Given the description of an element on the screen output the (x, y) to click on. 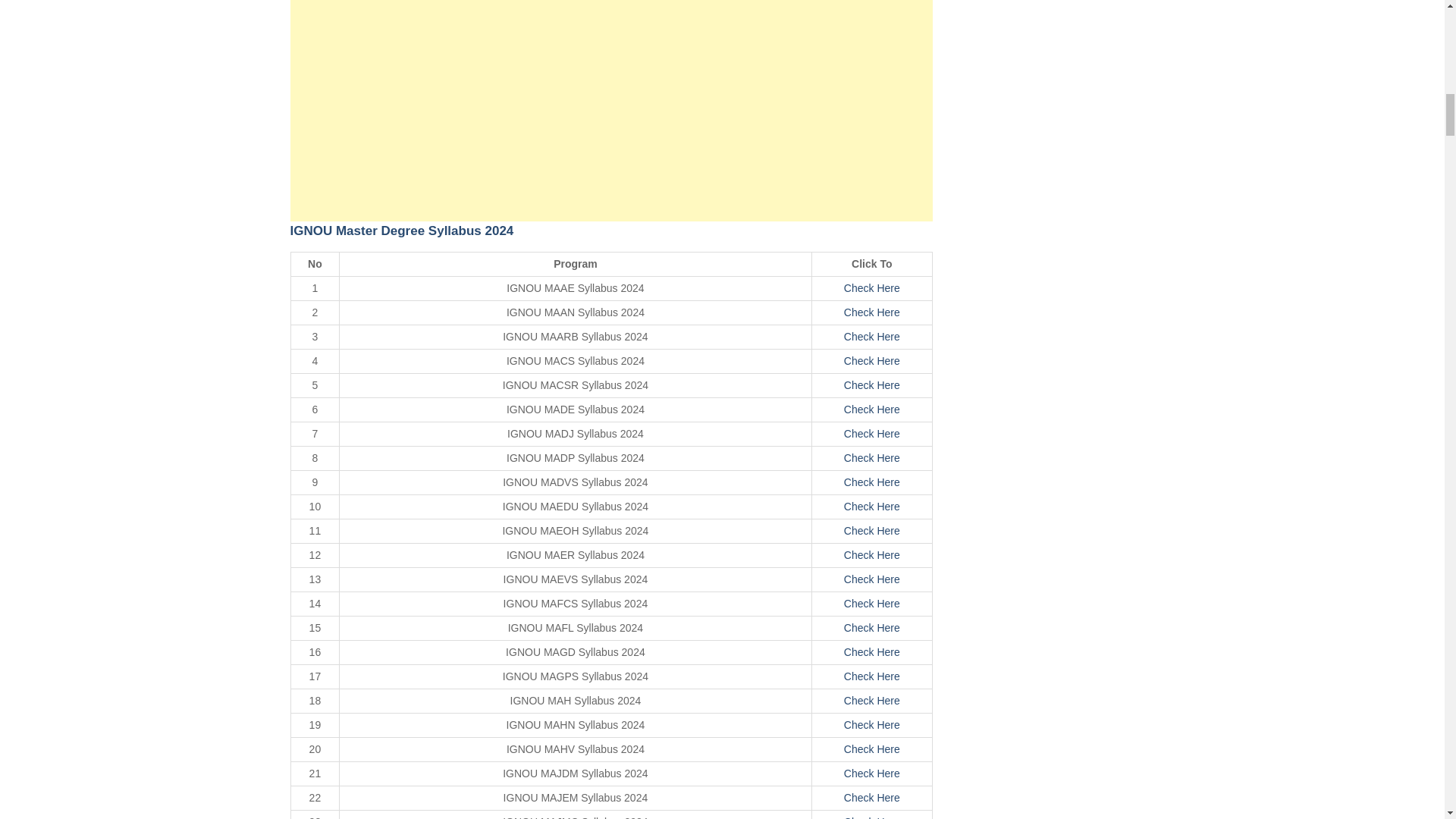
Check Here (871, 409)
Check Here (871, 748)
Check Here (871, 603)
Check Here (871, 554)
Check Here (871, 676)
Check Here (871, 433)
Check Here (871, 530)
Check Here (871, 773)
Check Here (871, 360)
Check Here (871, 817)
Check Here (871, 579)
Check Here (871, 312)
Check Here (871, 506)
Check Here (871, 652)
Check Here (871, 481)
